Given the description of an element on the screen output the (x, y) to click on. 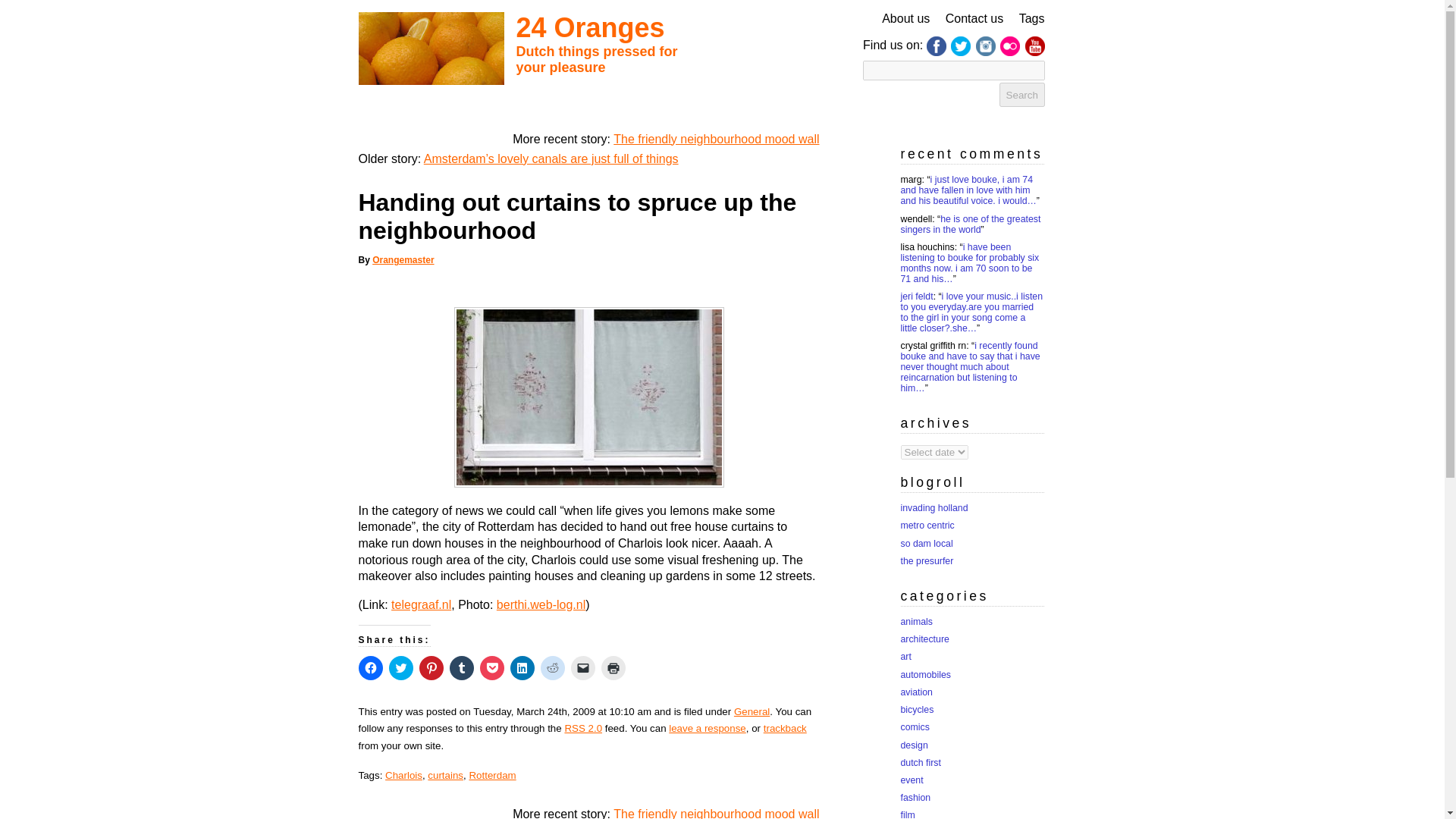
Charlois (403, 775)
Search (1021, 94)
General (751, 711)
leave a response (706, 727)
The friendly neighbourhood mood wall (715, 813)
About us (906, 18)
Tags (1032, 18)
Orangemaster (402, 259)
24 Oranges (589, 27)
The friendly neighbourhood mood wall (715, 138)
Search (1021, 94)
trackback (784, 727)
curtains (445, 775)
Contact us (973, 18)
Rotterdam (491, 775)
